Given the description of an element on the screen output the (x, y) to click on. 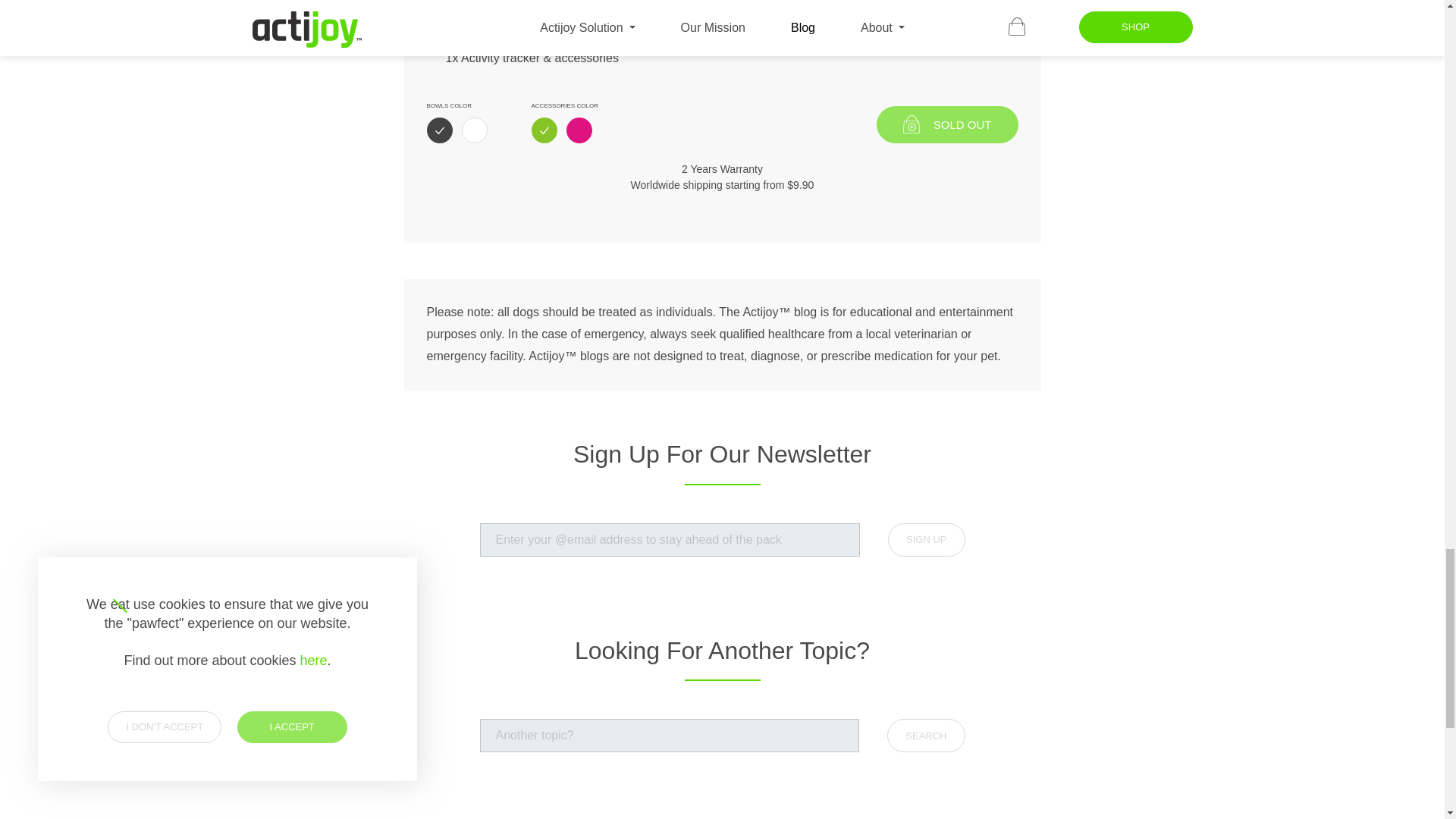
SOLD OUT (946, 124)
SIGN UP (925, 539)
SEARCH (924, 735)
